Given the description of an element on the screen output the (x, y) to click on. 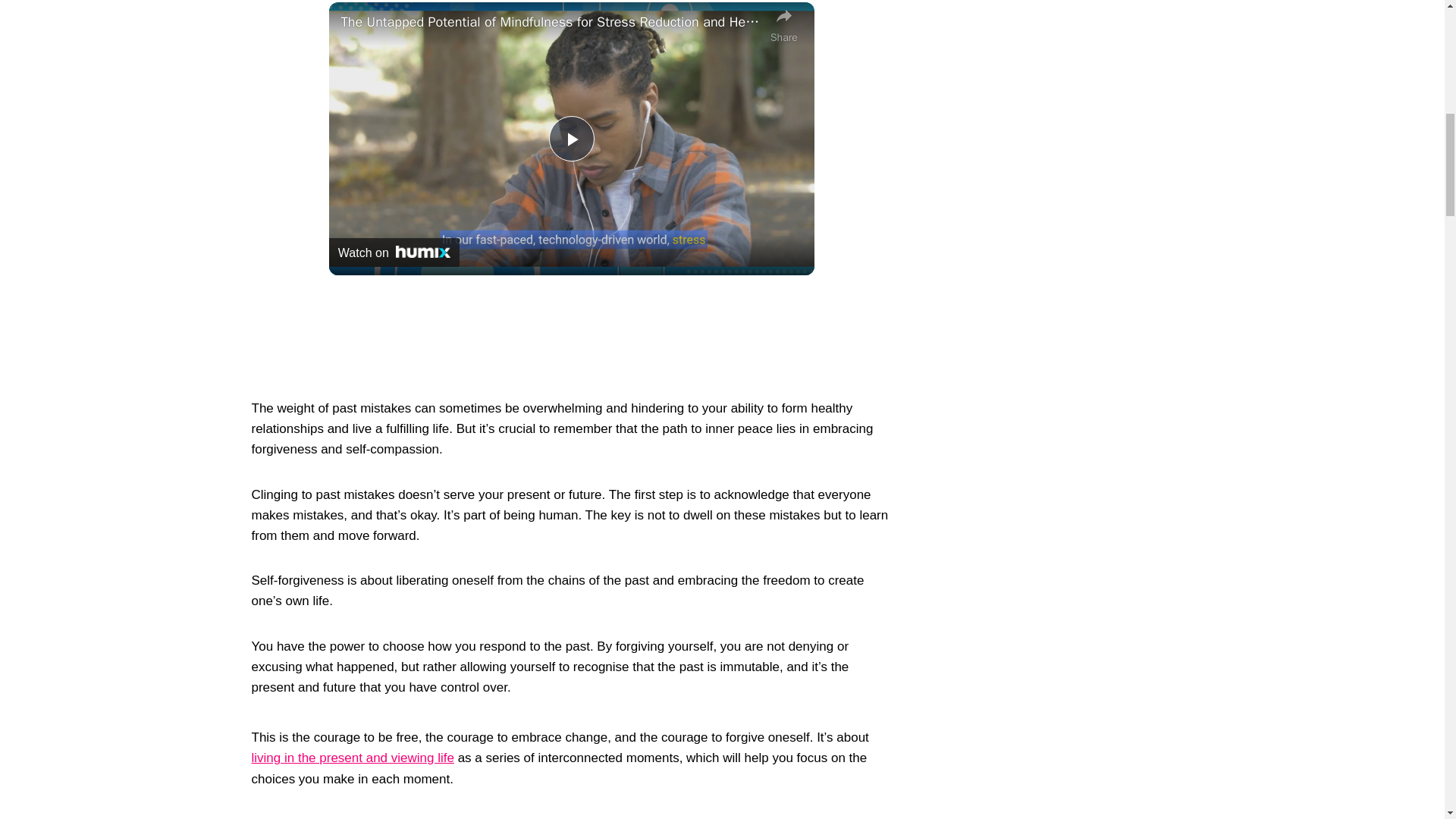
Play Video (571, 138)
share (783, 23)
Play Video (571, 138)
living in the present and viewing life (352, 757)
Share (783, 23)
Watch on (394, 252)
